Given the description of an element on the screen output the (x, y) to click on. 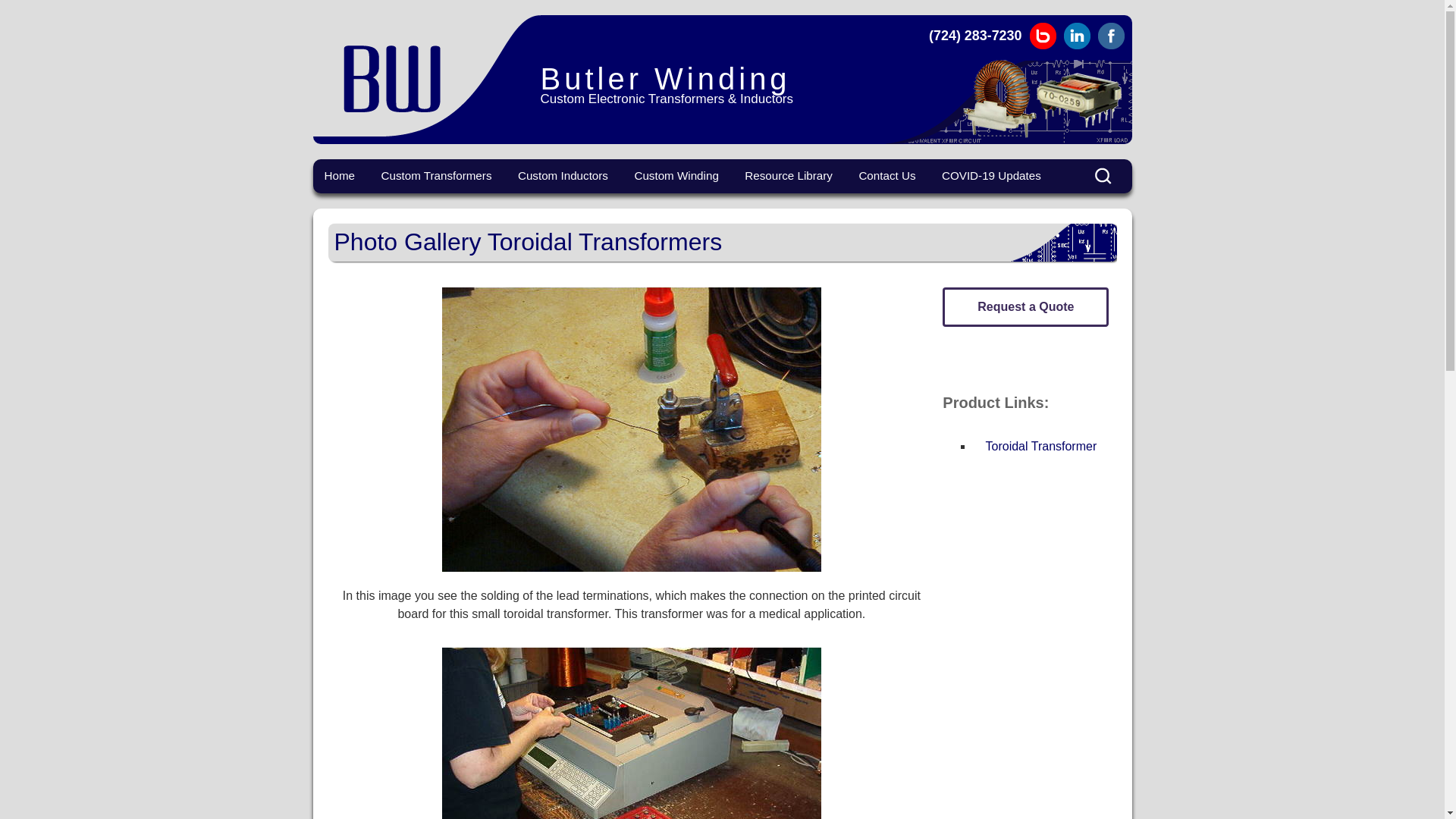
Custom Winding (676, 174)
Custom Built (697, 205)
COVID-19 Updates (991, 174)
Request a Quote (1025, 306)
Resource Library (788, 174)
Butler Winding (426, 75)
Representatives (921, 205)
Bobbin Wound Inductor (580, 205)
Contact Us (886, 174)
Home (339, 174)
Bobbin Wound Transformers (443, 212)
Butler Winding (426, 75)
Toroidal Transformer (1041, 445)
Custom Transformers (435, 174)
Custom Inductors (563, 174)
